Given the description of an element on the screen output the (x, y) to click on. 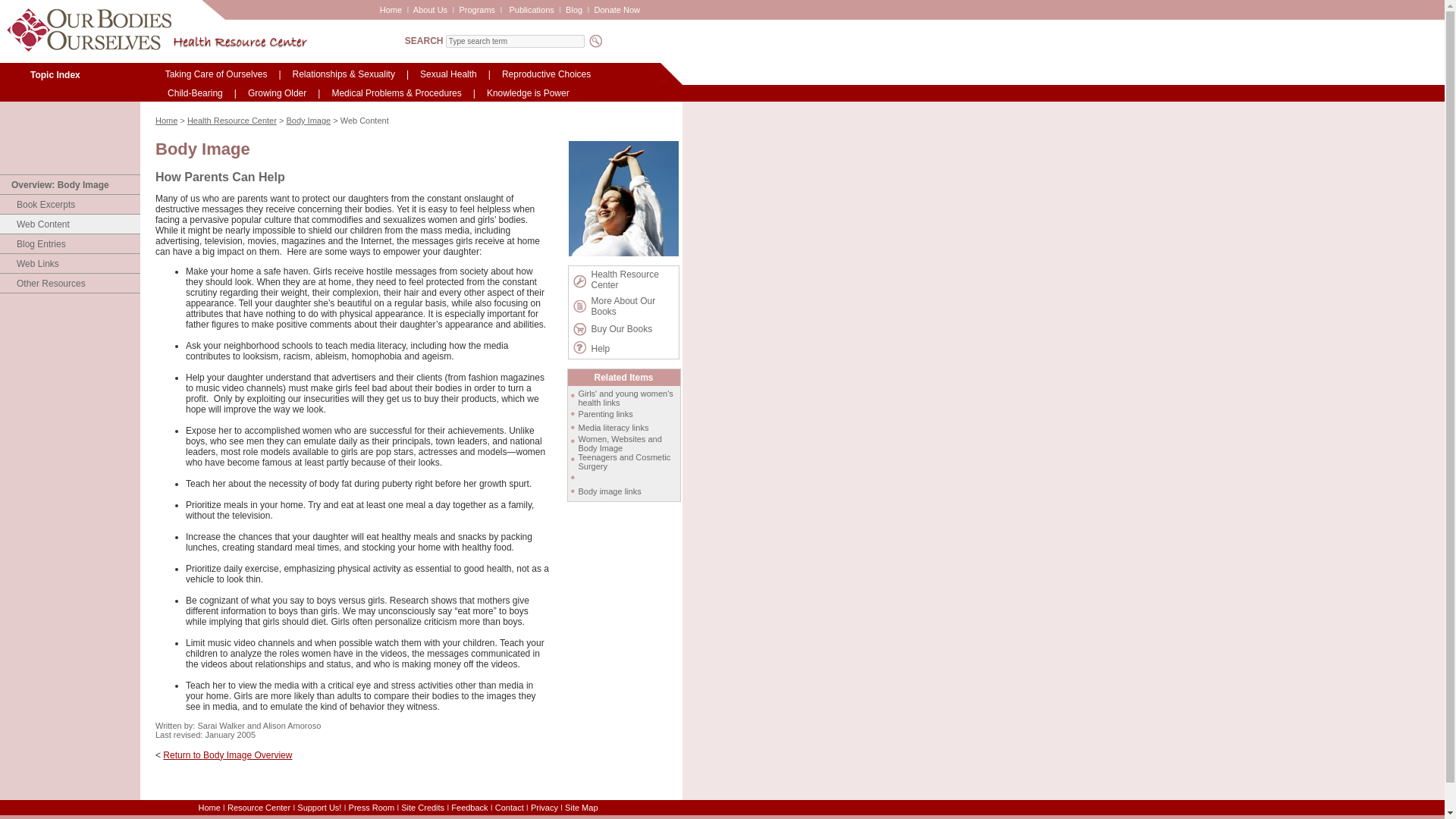
Type search term (515, 41)
Growing Older (277, 93)
Sexual Health (448, 73)
About Us (429, 9)
Topic Index (55, 74)
Reproductive Choices (545, 73)
Type search term (515, 41)
Publications (530, 9)
Donate Now (617, 9)
Child-Bearing (195, 93)
Home (390, 9)
Taking Care of Ourselves (215, 73)
Blog (574, 9)
Programs (476, 9)
